Given the description of an element on the screen output the (x, y) to click on. 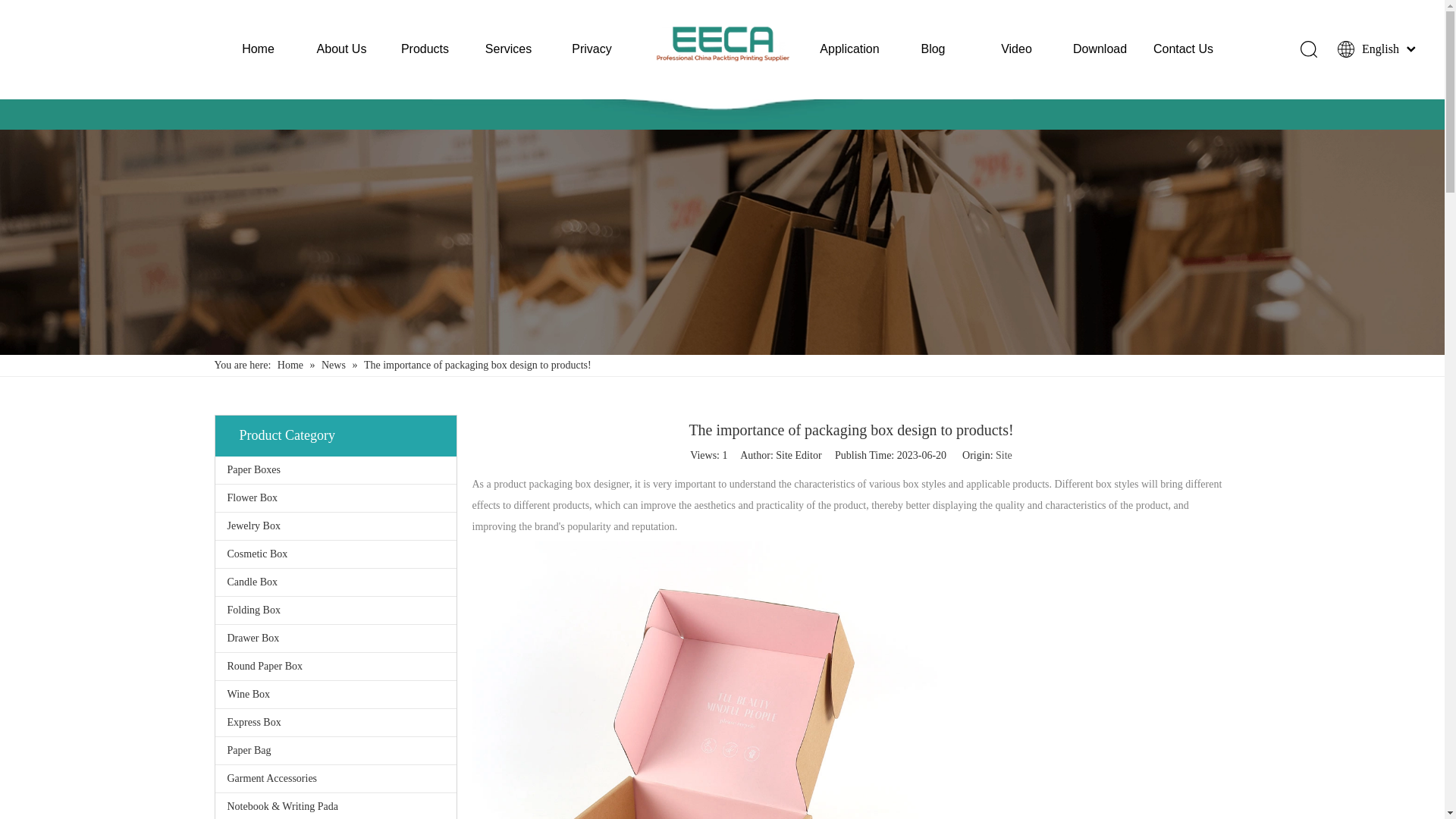
Paper Boxes (336, 470)
Home (258, 48)
Express Box (336, 722)
Round Paper Box (336, 666)
Blog (932, 48)
About Us (341, 48)
Paper Bag (336, 750)
Jewelry Box (336, 525)
Video (1016, 48)
Download (1099, 48)
